Given the description of an element on the screen output the (x, y) to click on. 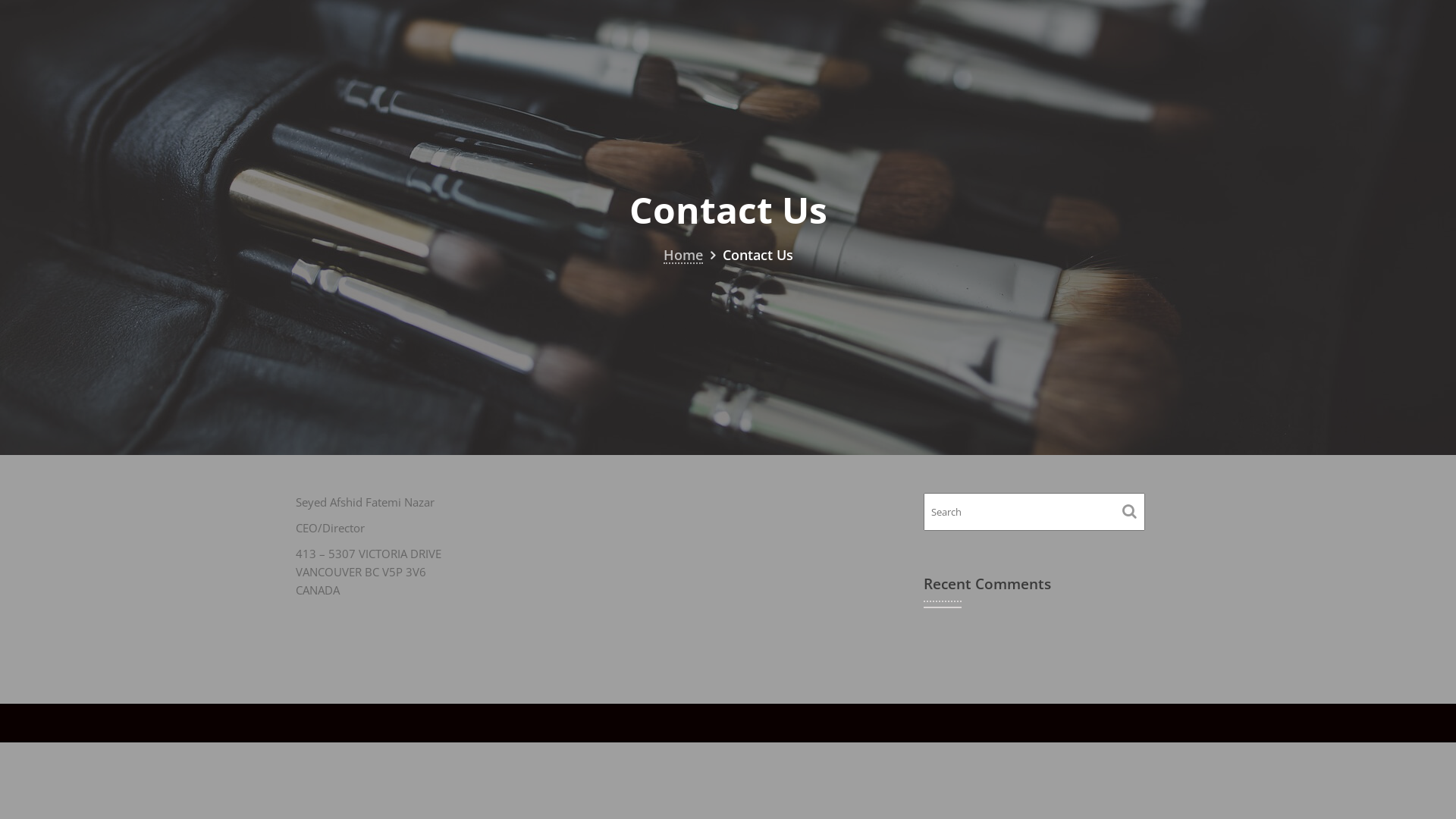
Skip to content Element type: text (0, 0)
Home Element type: text (682, 254)
